Given the description of an element on the screen output the (x, y) to click on. 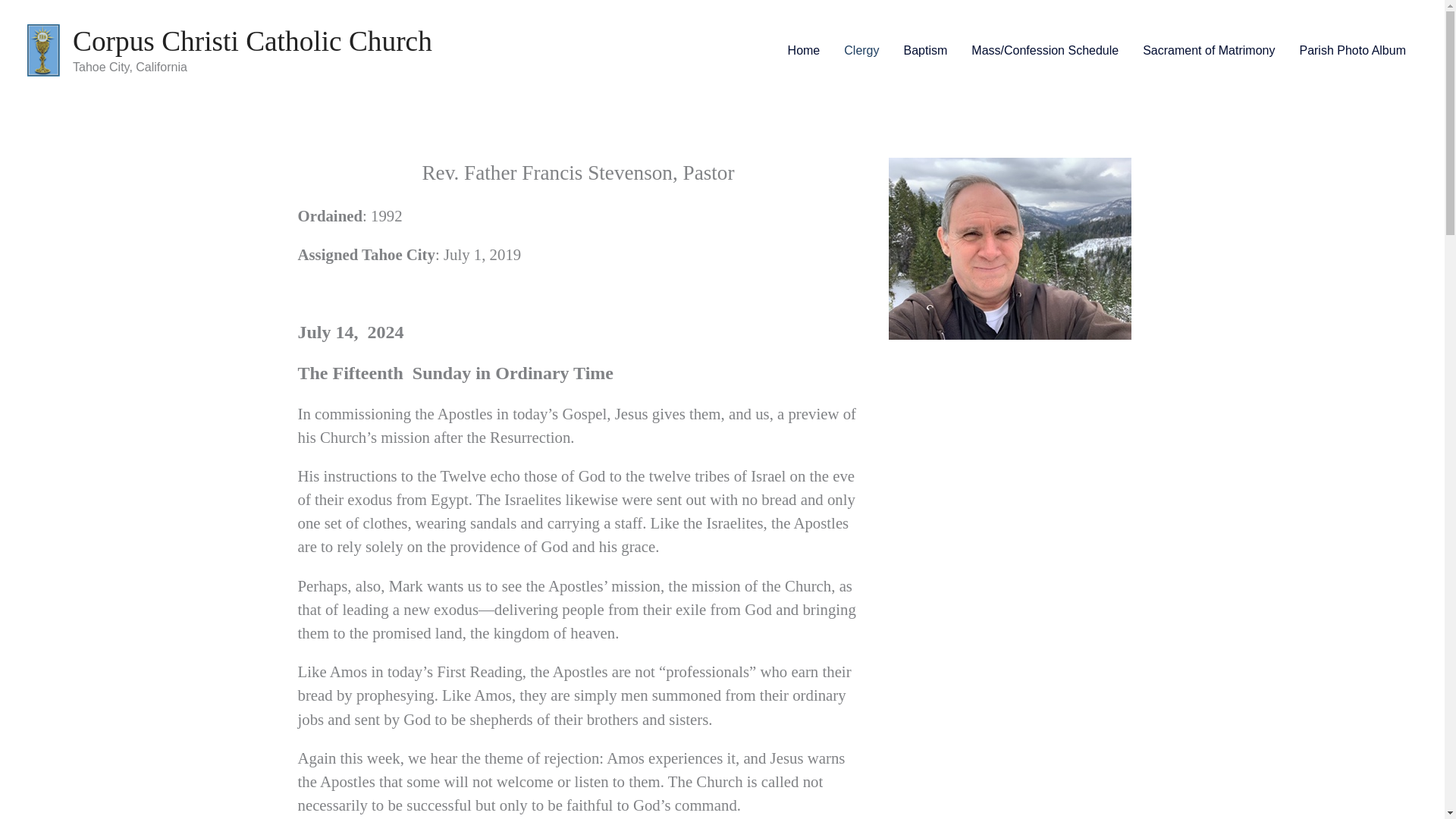
Home (804, 50)
Baptism (925, 50)
Clergy (861, 50)
Parish Photo Album (1352, 50)
Sacrament of Matrimony (1209, 50)
Corpus Christi Catholic Church (252, 40)
